Given the description of an element on the screen output the (x, y) to click on. 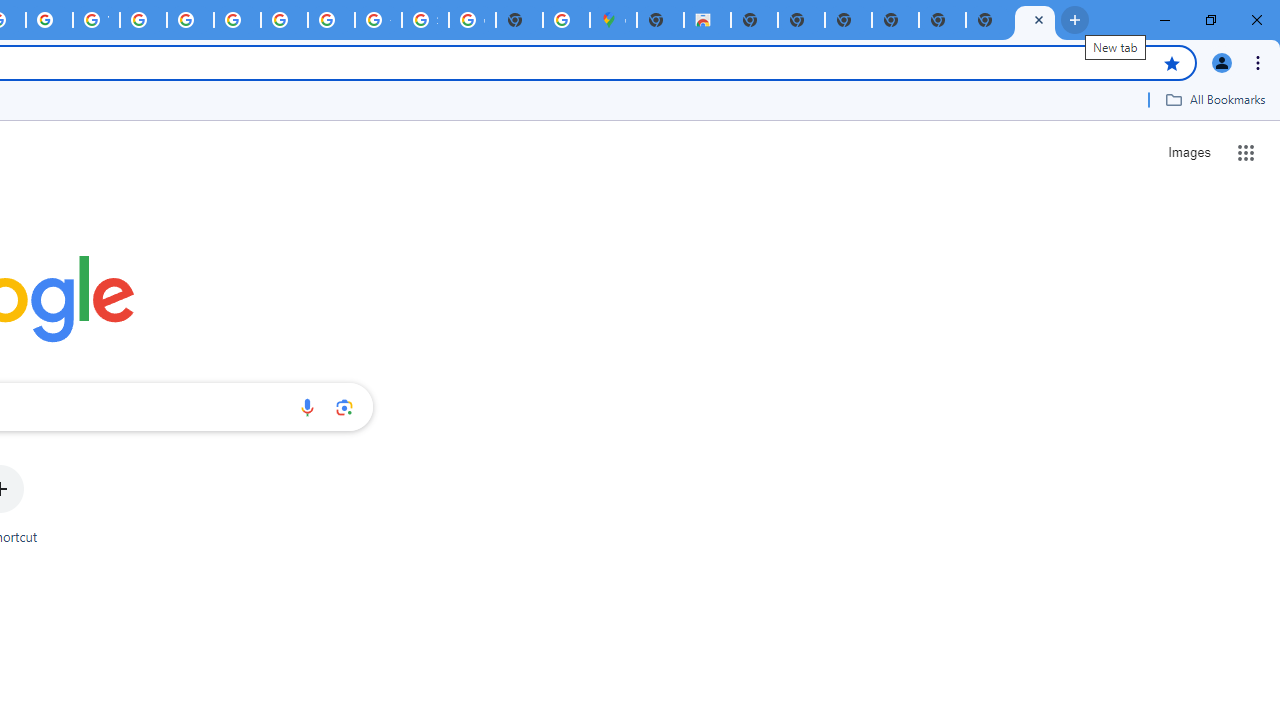
New Tab (1035, 20)
YouTube (96, 20)
New Tab (942, 20)
Google Maps (613, 20)
All Bookmarks (1215, 99)
New Tab (895, 20)
Search for Images  (1188, 152)
